Given the description of an element on the screen output the (x, y) to click on. 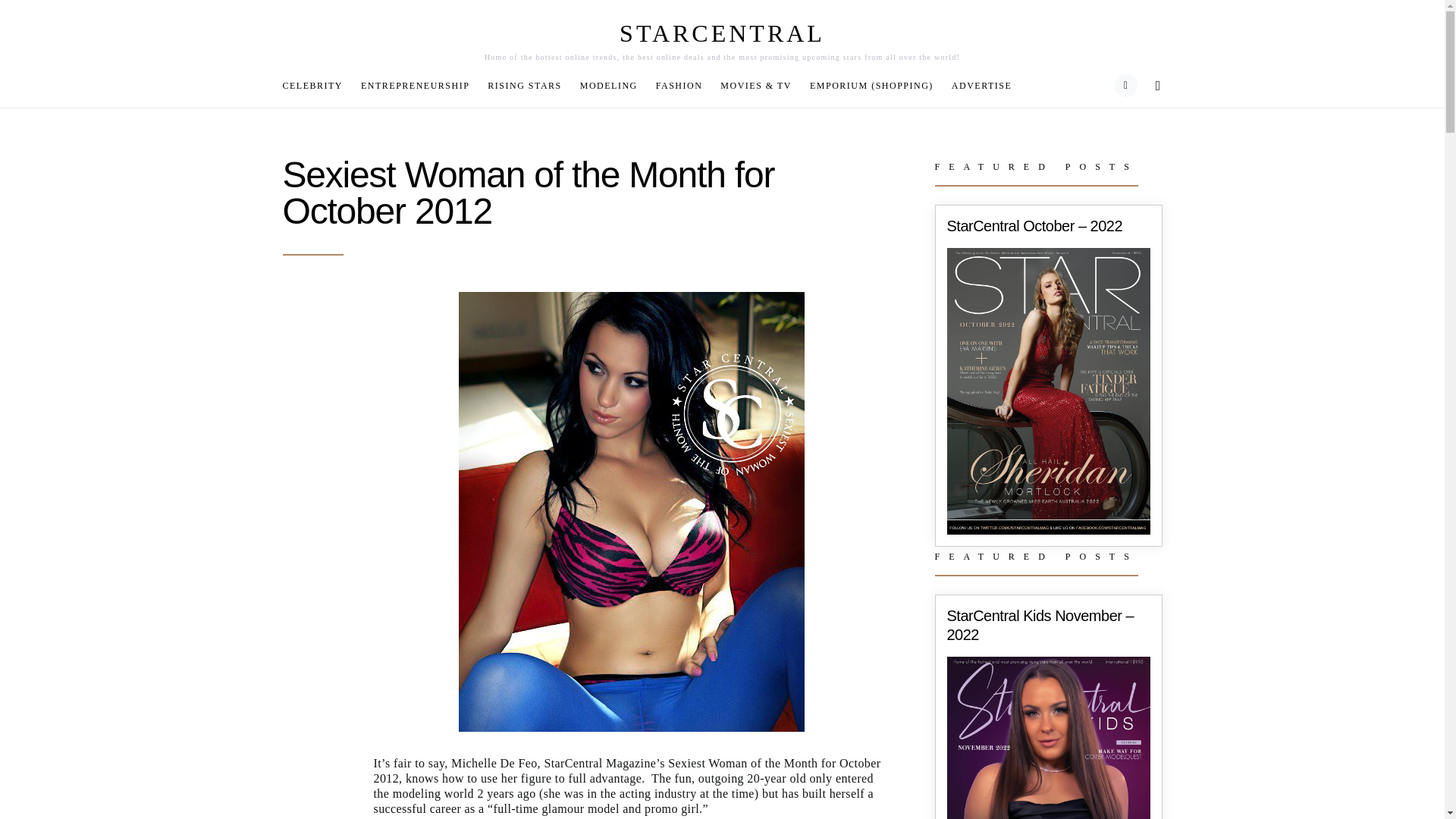
RISING STARS (524, 84)
CELEBRITY (317, 84)
FASHION (678, 84)
ADVERTISE (976, 84)
ENTREPRENEURSHIP (415, 84)
View your shopping cart (1126, 85)
MODELING (608, 84)
STARCENTRAL (721, 33)
